Given the description of an element on the screen output the (x, y) to click on. 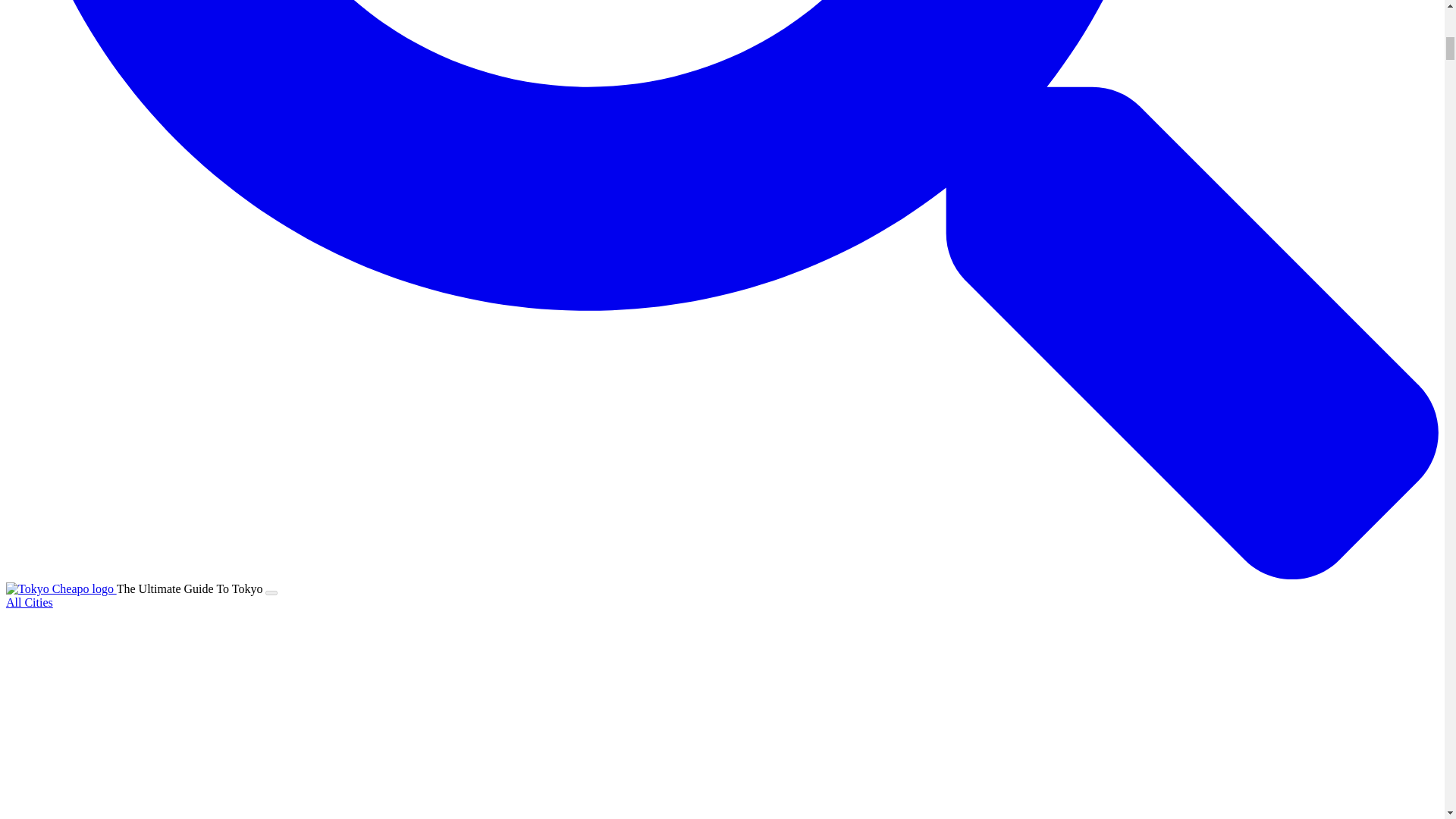
Tokyo Cheapo Homepage (60, 588)
Tokyo Cheapo (59, 589)
